Given the description of an element on the screen output the (x, y) to click on. 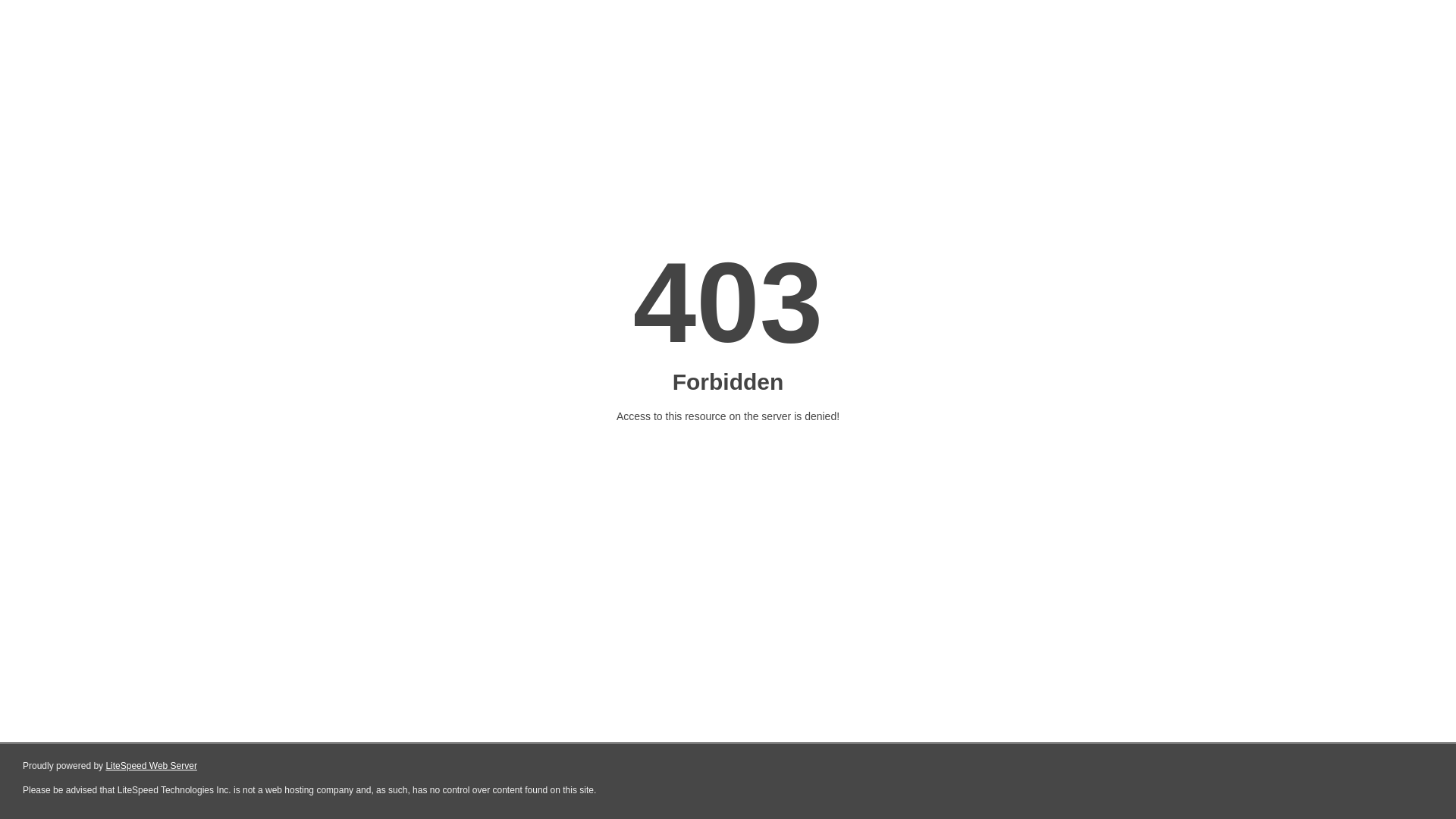
LiteSpeed Web Server Element type: text (151, 765)
